Given the description of an element on the screen output the (x, y) to click on. 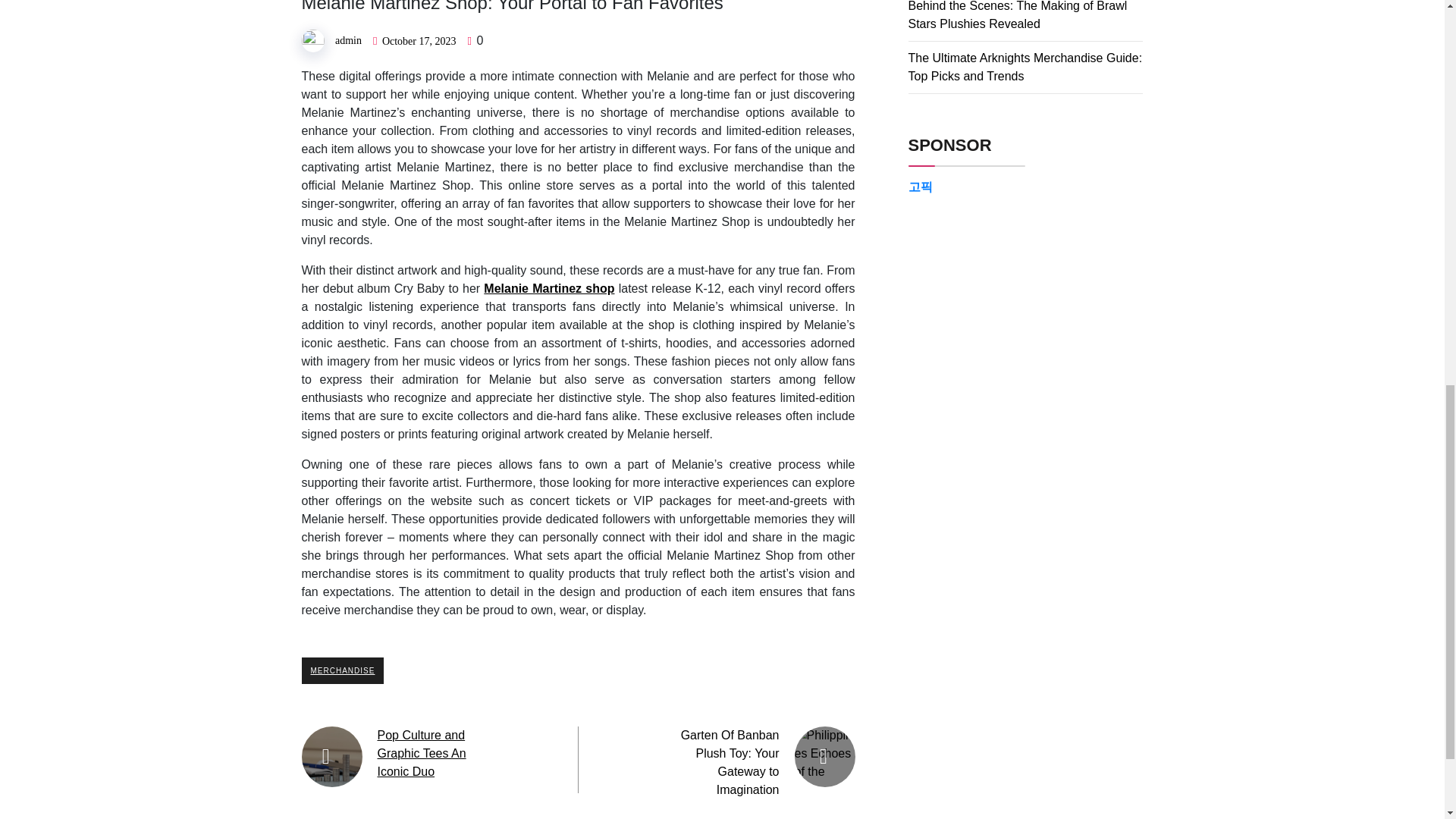
MERCHANDISE (342, 670)
admin (347, 40)
October 17, 2023 (419, 41)
Melanie Martinez shop (548, 287)
Pop Culture and Graphic Tees An Iconic Duo (421, 753)
Garten Of Banban Plush Toy: Your Gateway to Imagination (729, 762)
